Given the description of an element on the screen output the (x, y) to click on. 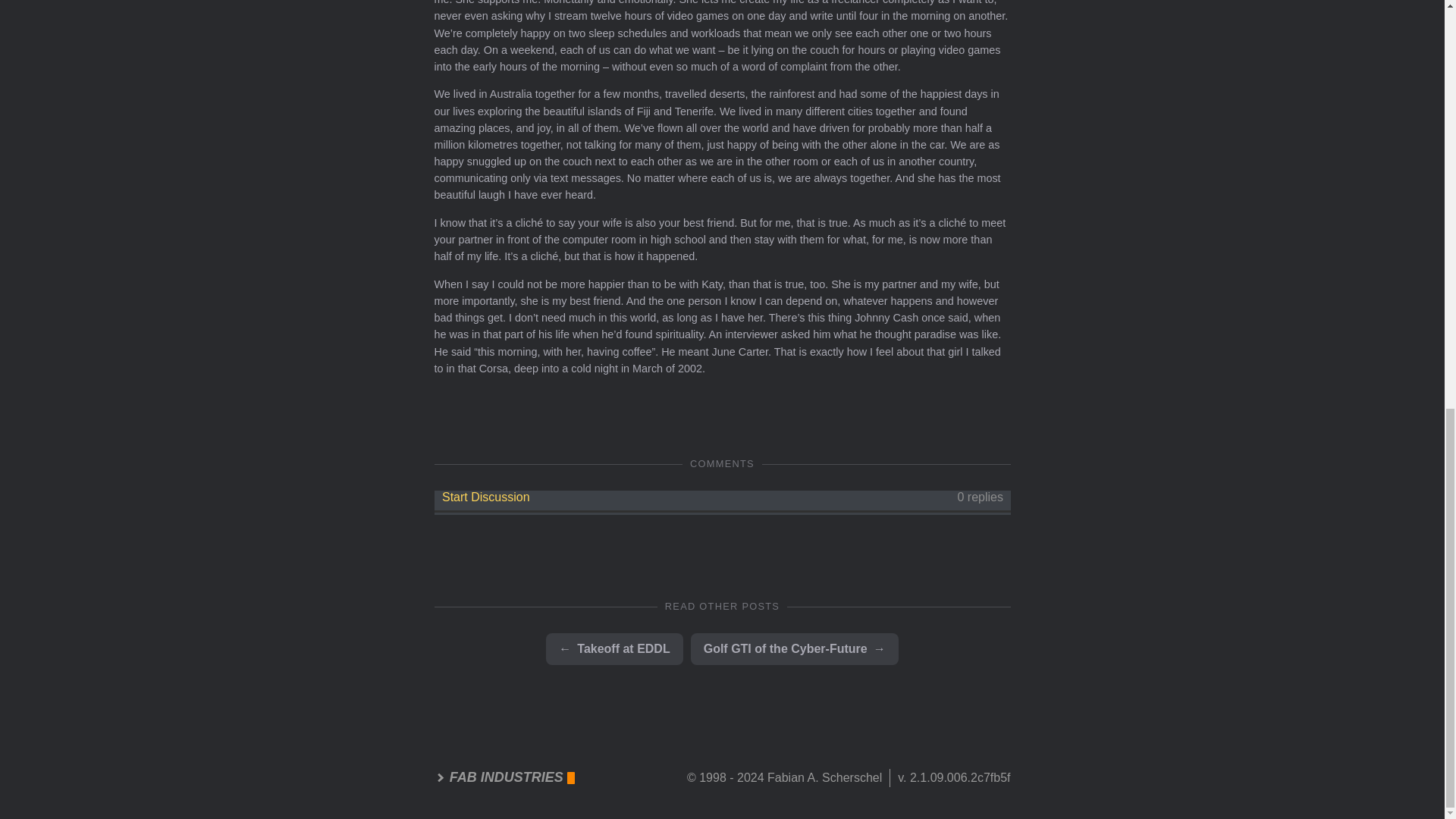
FAB INDUSTRIES (503, 777)
